Given the description of an element on the screen output the (x, y) to click on. 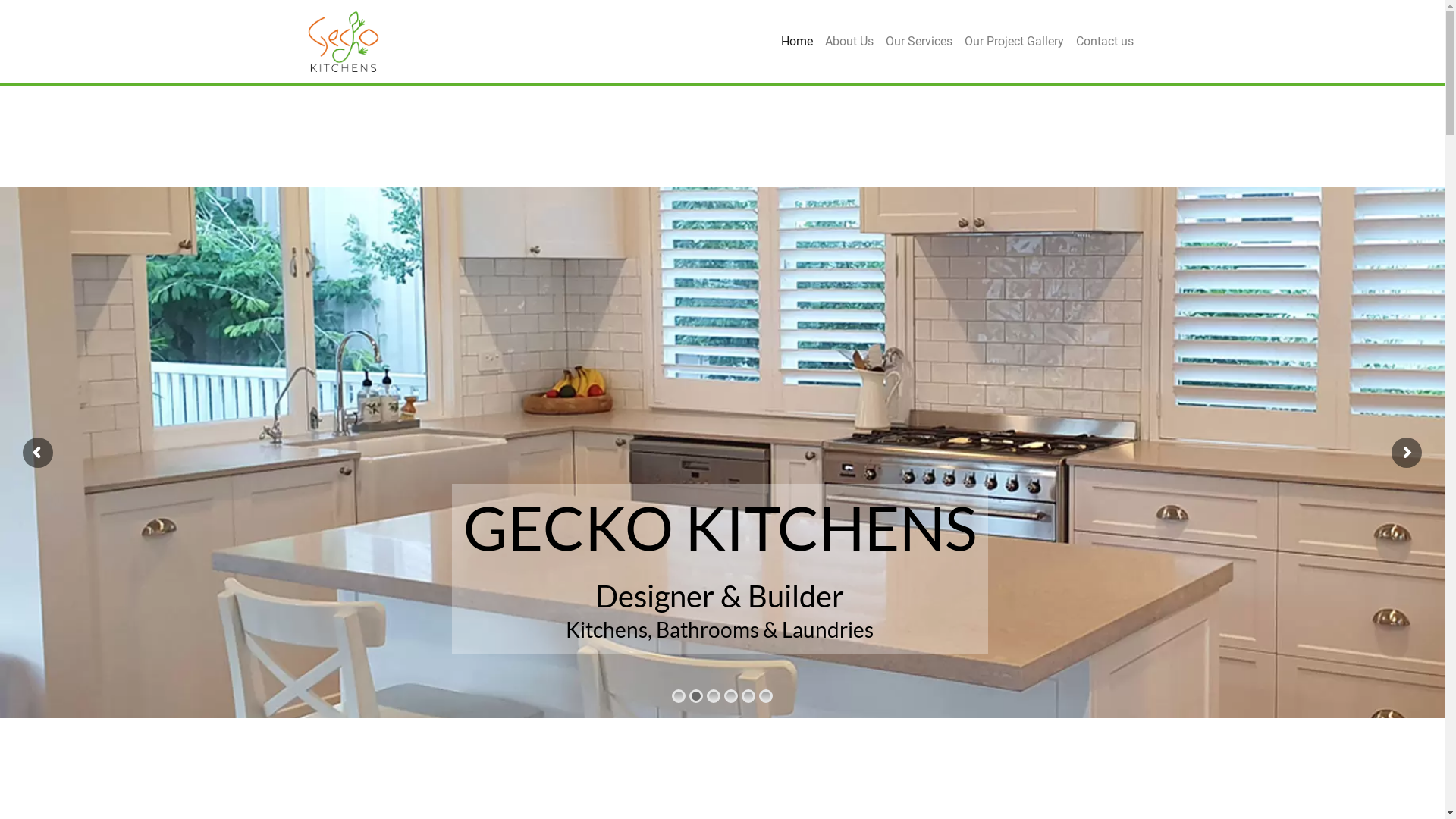
Contact us Element type: text (1104, 41)
Our Project Gallery Element type: text (1014, 41)
Our Services Element type: text (918, 41)
Home Element type: text (797, 41)
About Us Element type: text (849, 41)
